Given the description of an element on the screen output the (x, y) to click on. 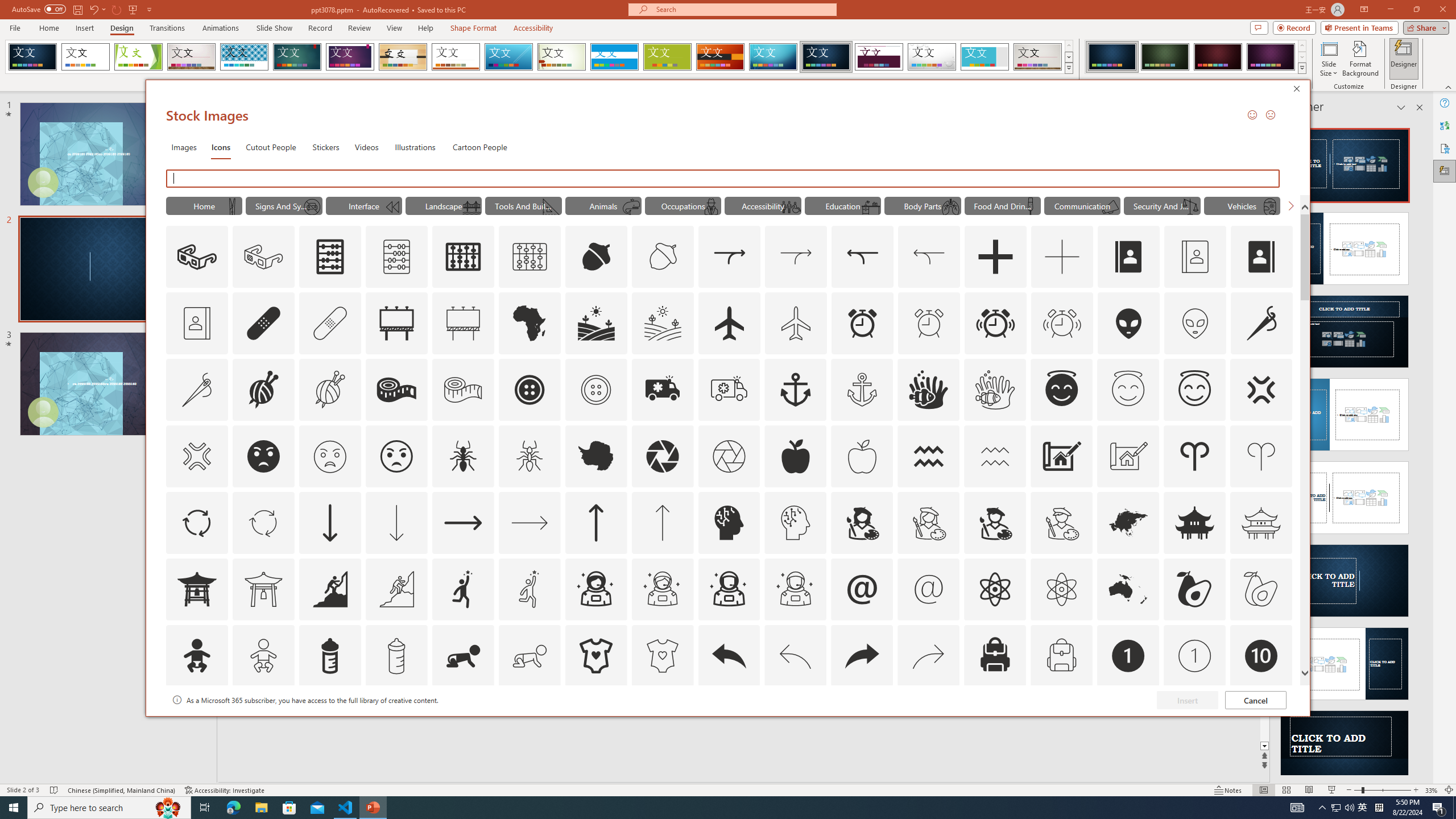
AutomationID: Icons_AddressBook_LTR_M (1194, 256)
AutomationID: Icons_AdhesiveBandage_M (330, 323)
"Body Parts" Icons. (921, 205)
Damask Variant 2 (1164, 56)
AutomationID: Icons_Badge3 (395, 721)
AutomationID: Icons_ArtificialIntelligence (729, 522)
AutomationID: Icons_AngelFace (1061, 389)
AutomationID: Icons_NoDriving_M (311, 206)
AutomationID: Icons_AngelFace_M (1128, 389)
